Given the description of an element on the screen output the (x, y) to click on. 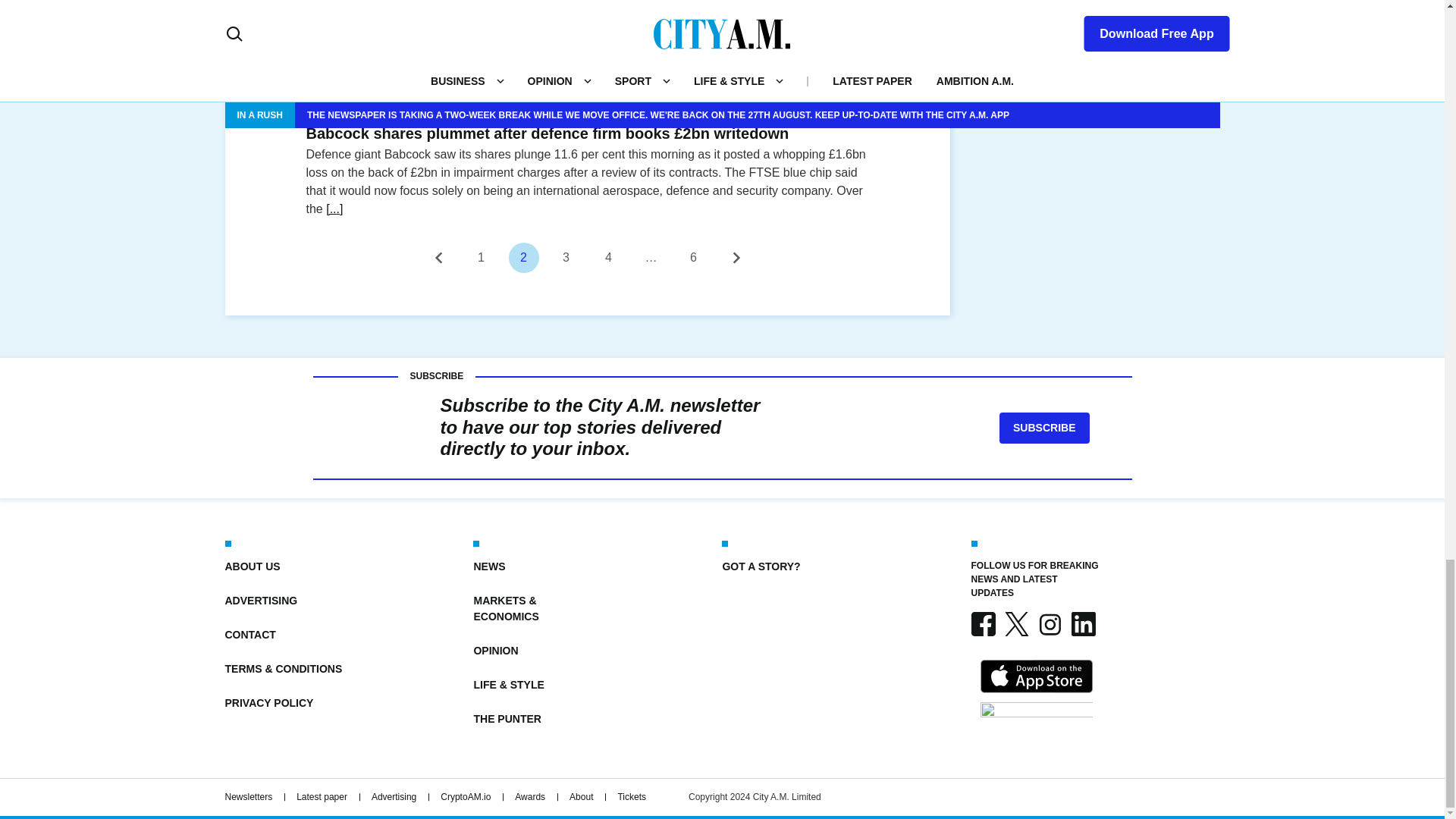
LINKEDIN (1082, 623)
INSTAGRAM (1048, 623)
FACEBOOK (982, 623)
X (1015, 623)
